Given the description of an element on the screen output the (x, y) to click on. 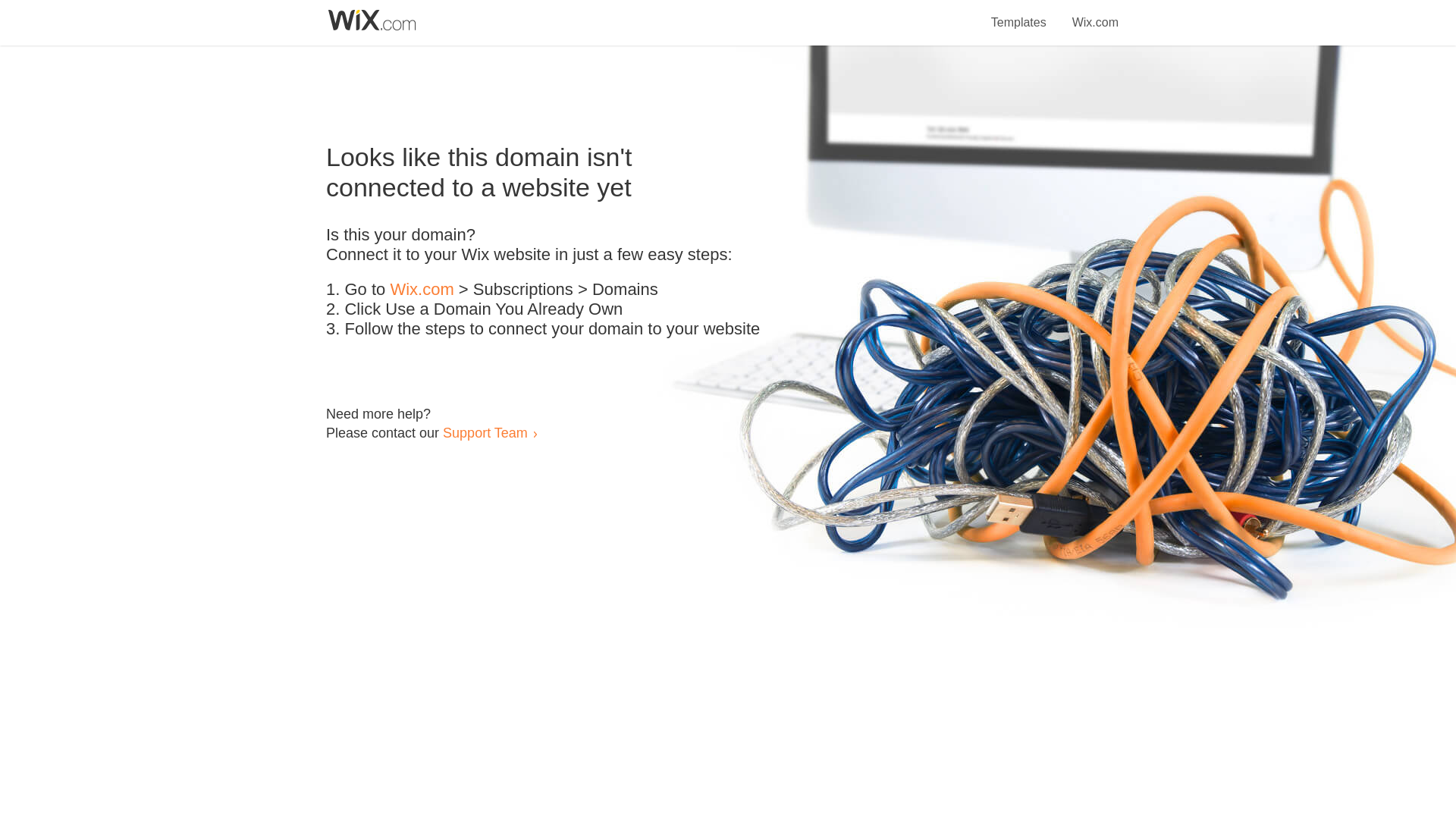
Support Team (484, 432)
Wix.com (1095, 14)
Templates (1018, 14)
Wix.com (421, 289)
